Given the description of an element on the screen output the (x, y) to click on. 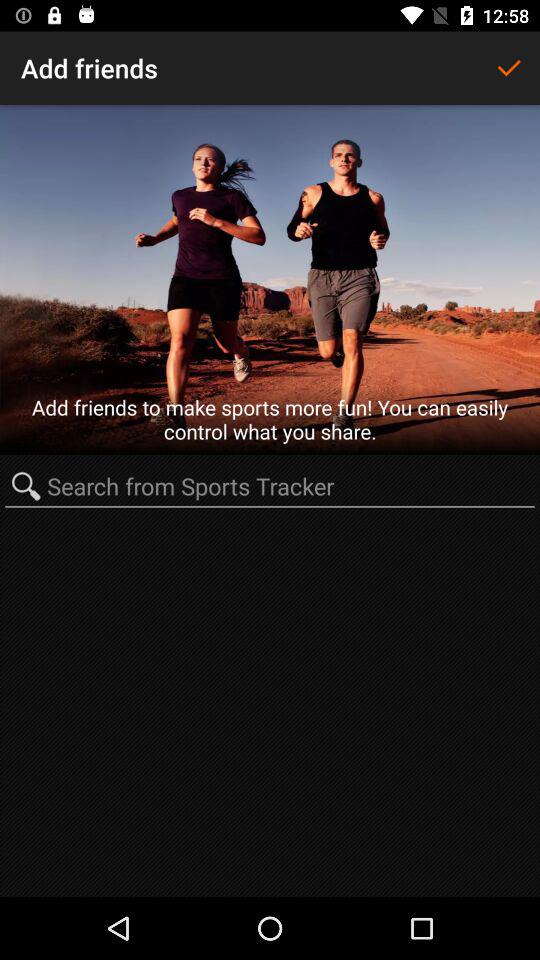
select the item next to the add friends item (508, 67)
